Given the description of an element on the screen output the (x, y) to click on. 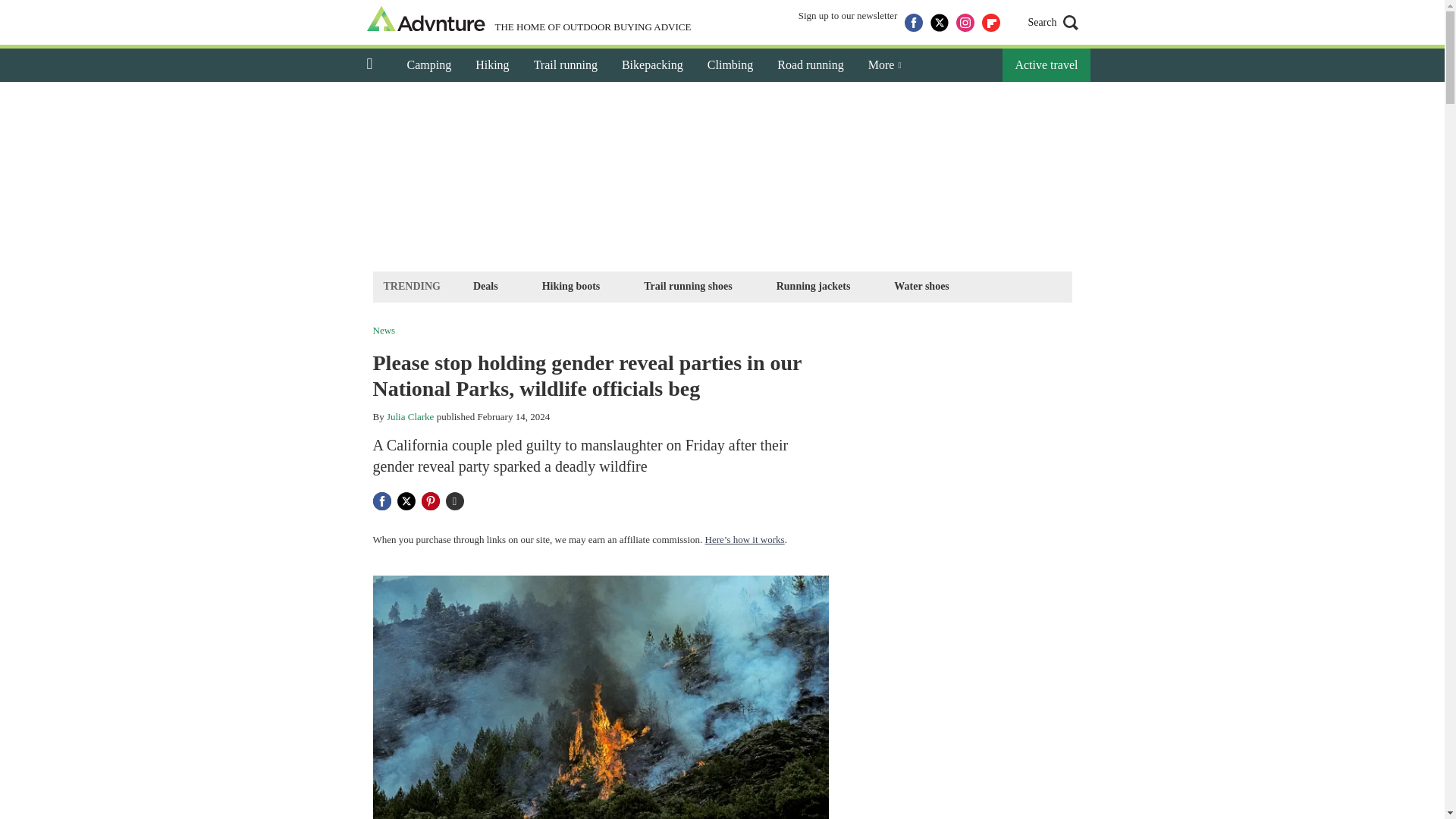
Running jackets (813, 286)
Climbing (730, 64)
Trail running (565, 64)
Hiking (492, 64)
Camping (428, 64)
Trail running shoes (687, 286)
Julia Clarke (410, 416)
Deals (485, 286)
Sign up to our newsletter (847, 22)
Active travel (1046, 64)
